Given the description of an element on the screen output the (x, y) to click on. 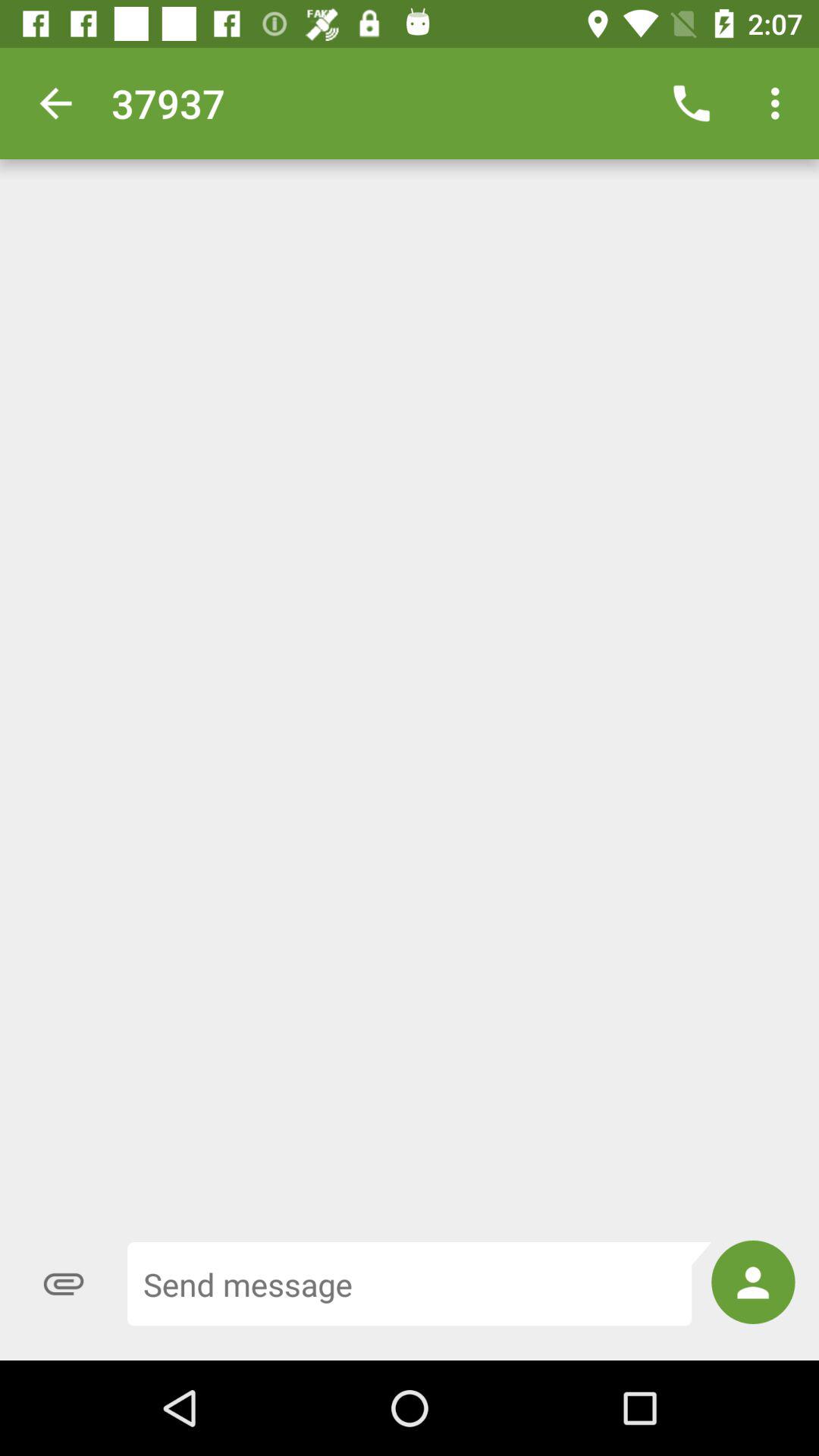
press item next to the 37937 item (691, 103)
